Given the description of an element on the screen output the (x, y) to click on. 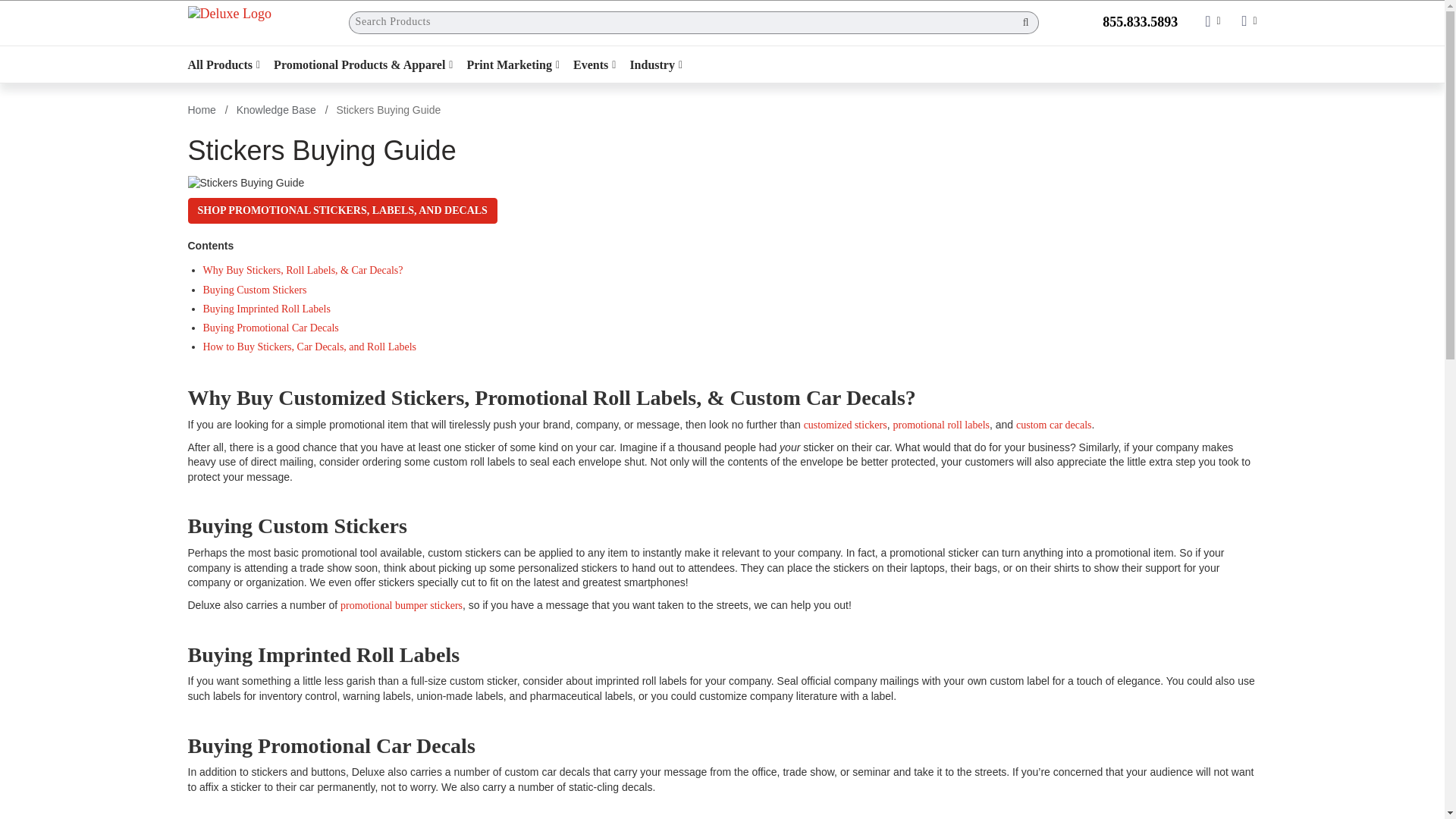
Shop Promotional Stickers, Labels, and Decals (342, 210)
Search Products (681, 22)
855.833.5893 (1137, 17)
